Given the description of an element on the screen output the (x, y) to click on. 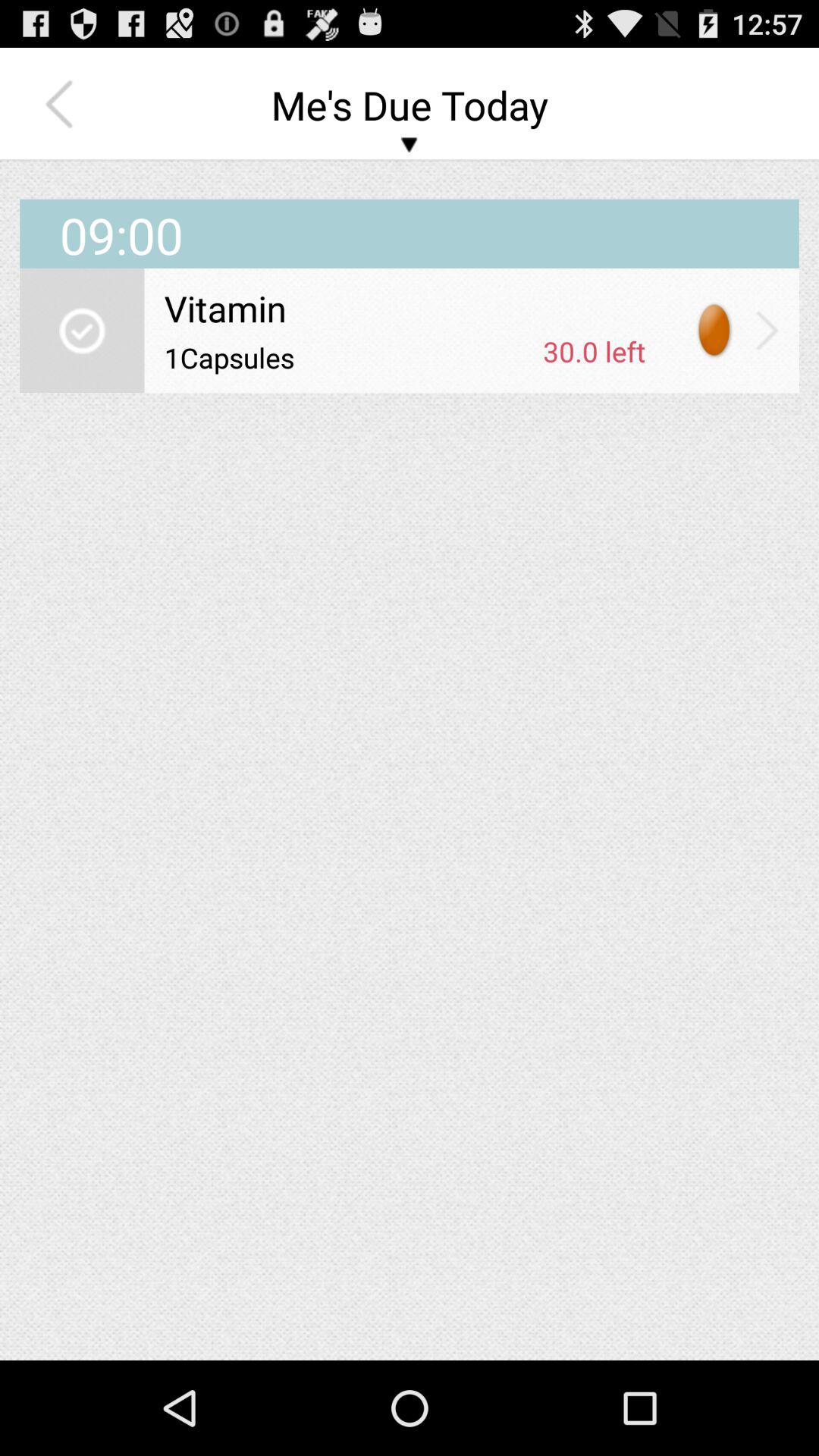
open the item below the 09:00 app (404, 308)
